Given the description of an element on the screen output the (x, y) to click on. 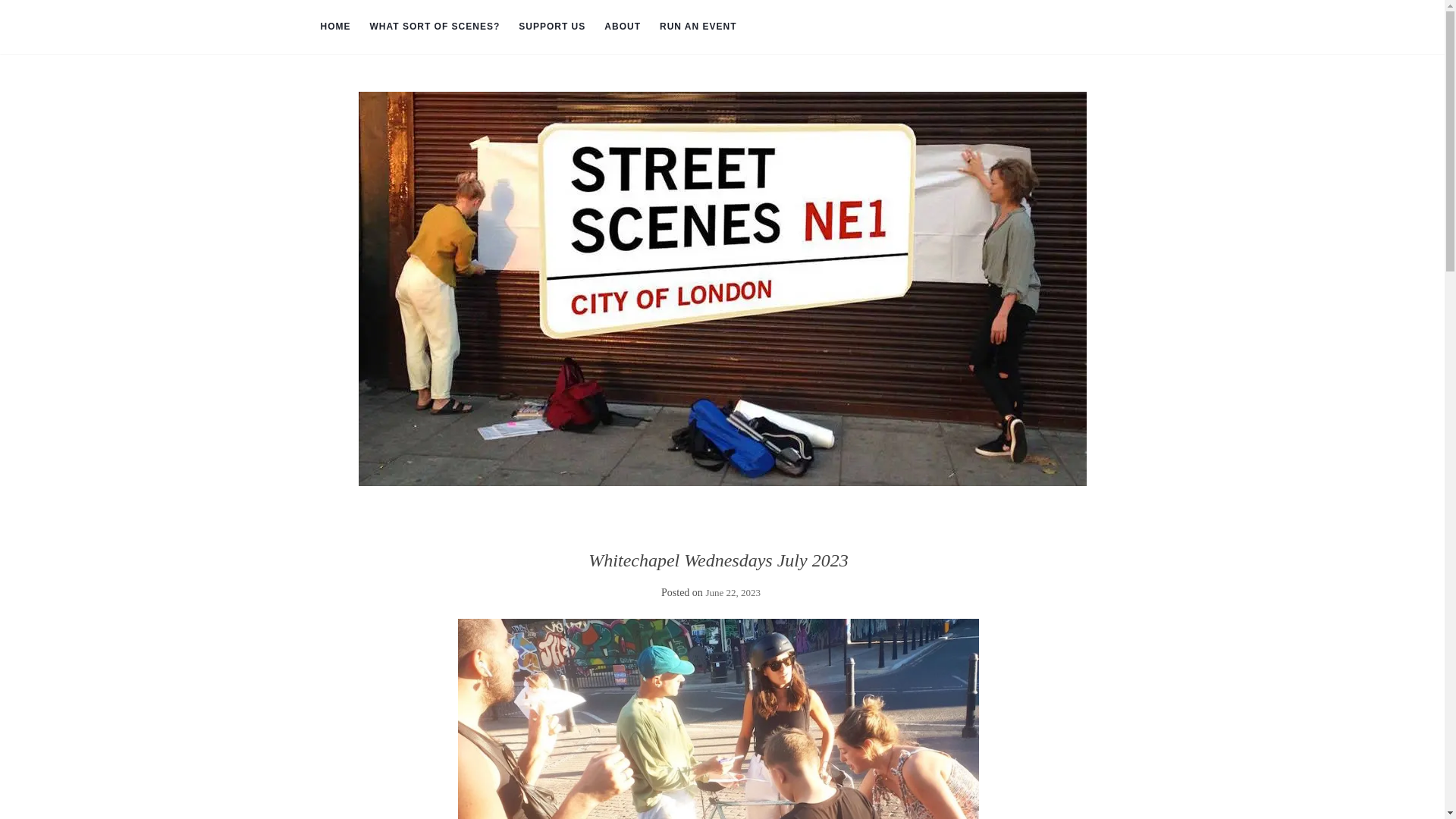
Support us (551, 27)
What sort of scenes? (434, 27)
SUPPORT US (551, 27)
Whitechapel Wednesdays July 2023 (718, 719)
WHAT SORT OF SCENES? (434, 27)
RUN AN EVENT (697, 27)
Run an event (697, 27)
June 22, 2023 (732, 592)
